Given the description of an element on the screen output the (x, y) to click on. 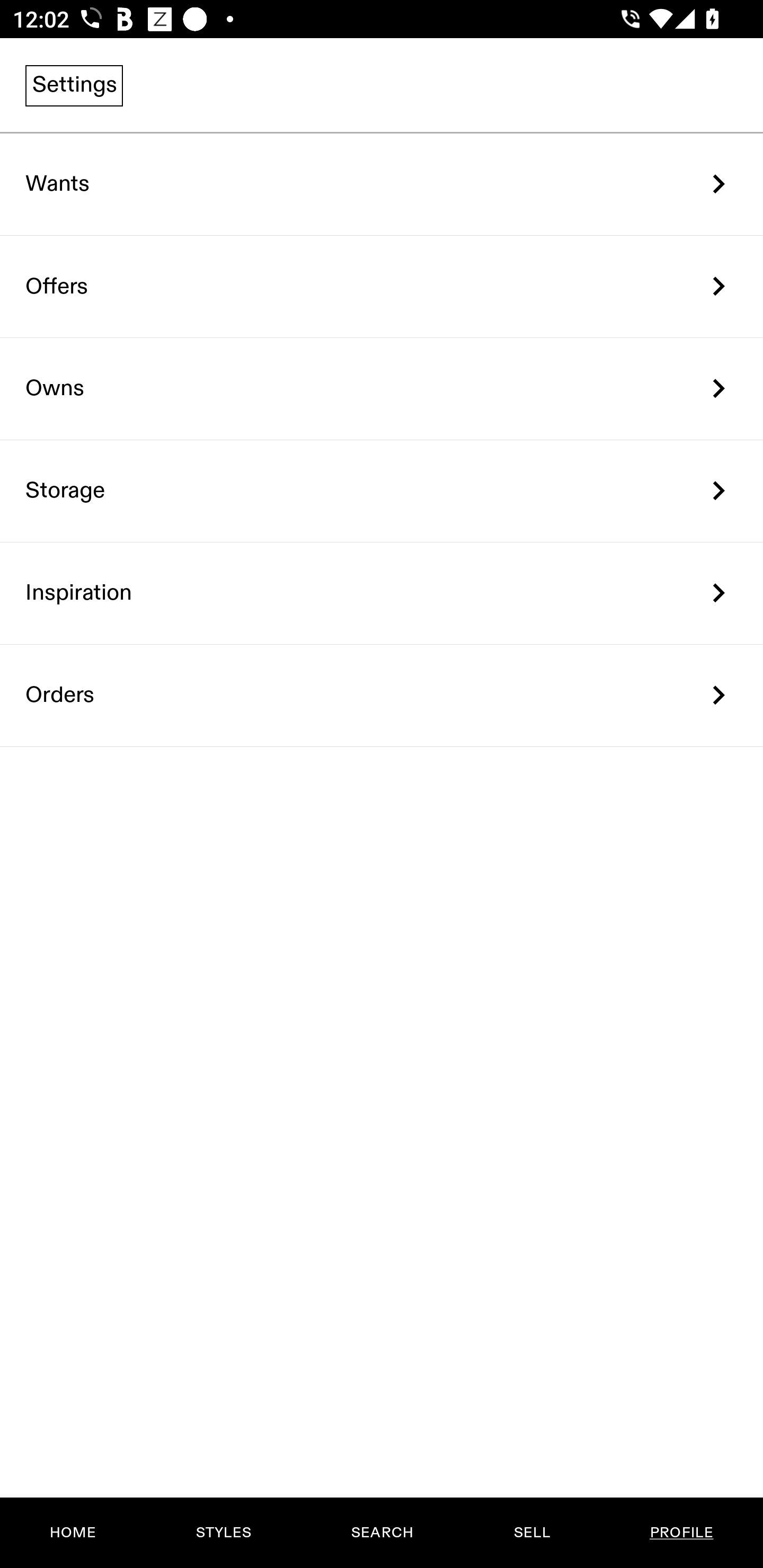
Settings (73, 85)
Wants (381, 184)
Offers (381, 286)
Owns (381, 388)
Storage (381, 491)
Inspiration (381, 593)
Orders (381, 695)
HOME (72, 1532)
STYLES (222, 1532)
SEARCH (381, 1532)
SELL (531, 1532)
PROFILE (681, 1532)
